Given the description of an element on the screen output the (x, y) to click on. 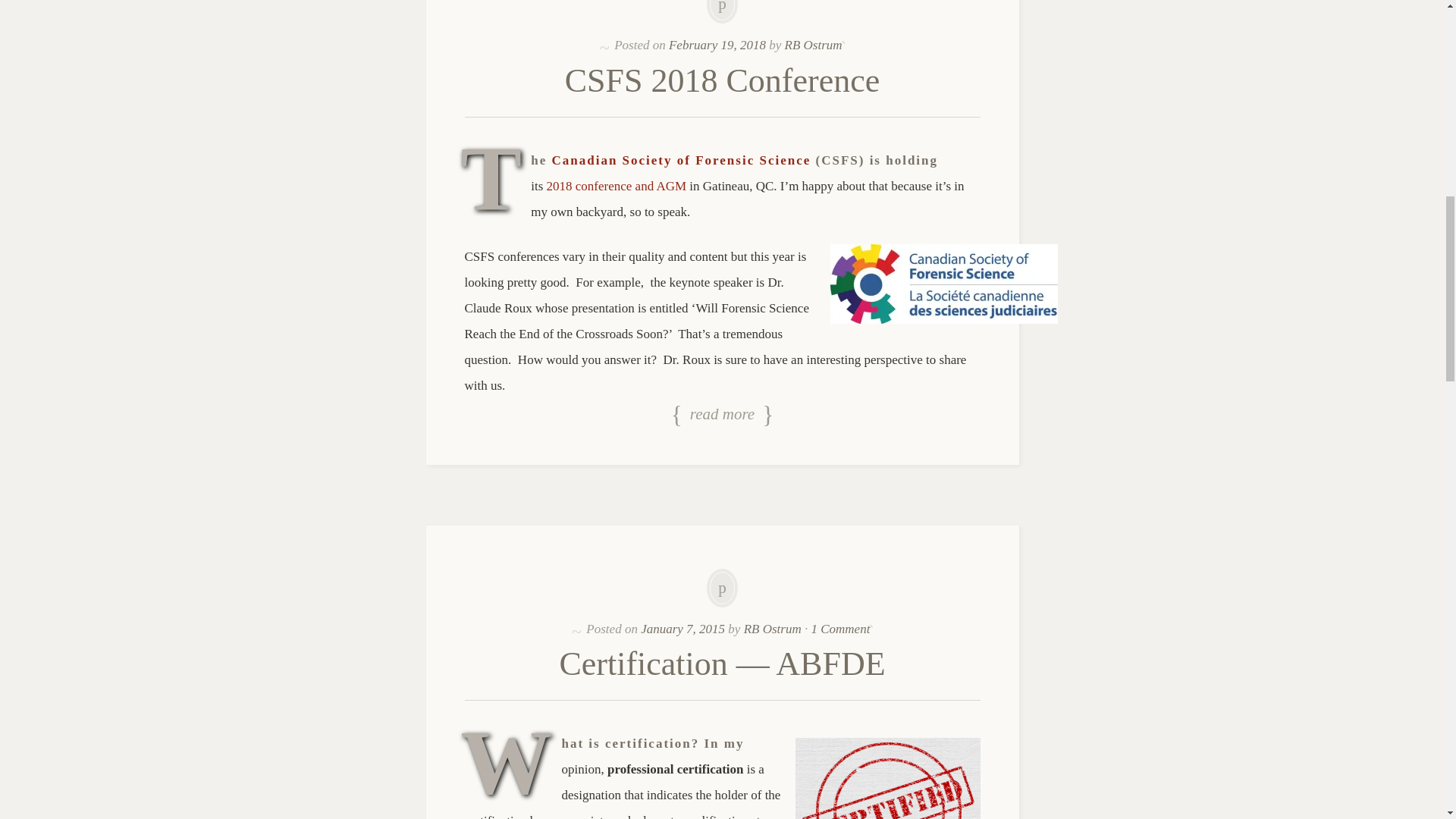
Canadian Society of Forensic Science (680, 160)
2018 conference and AGM (617, 186)
RB Ostrum (773, 628)
read more (721, 415)
CSFS 2018 Conference (722, 80)
1 Comment (839, 628)
January 7, 2015 (682, 628)
February 19, 2018 (716, 44)
RB Ostrum (812, 44)
